Given the description of an element on the screen output the (x, y) to click on. 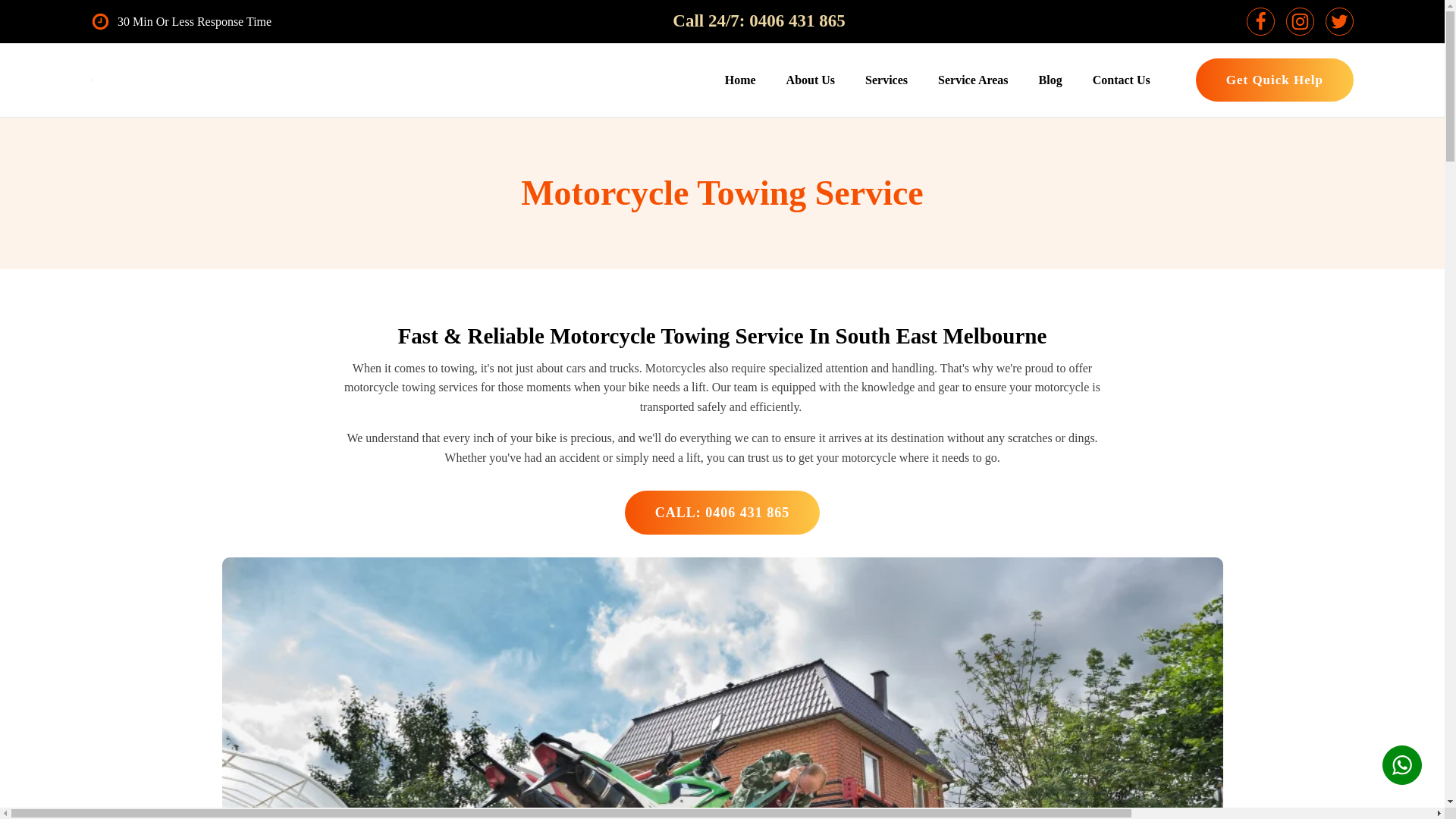
CALL: 0406 431 865 (722, 512)
Get Quick Help (1274, 79)
Services (886, 79)
Contact Us (1121, 79)
Service Areas (973, 79)
About Us (810, 79)
Home (740, 79)
Blog (1050, 79)
